Given the description of an element on the screen output the (x, y) to click on. 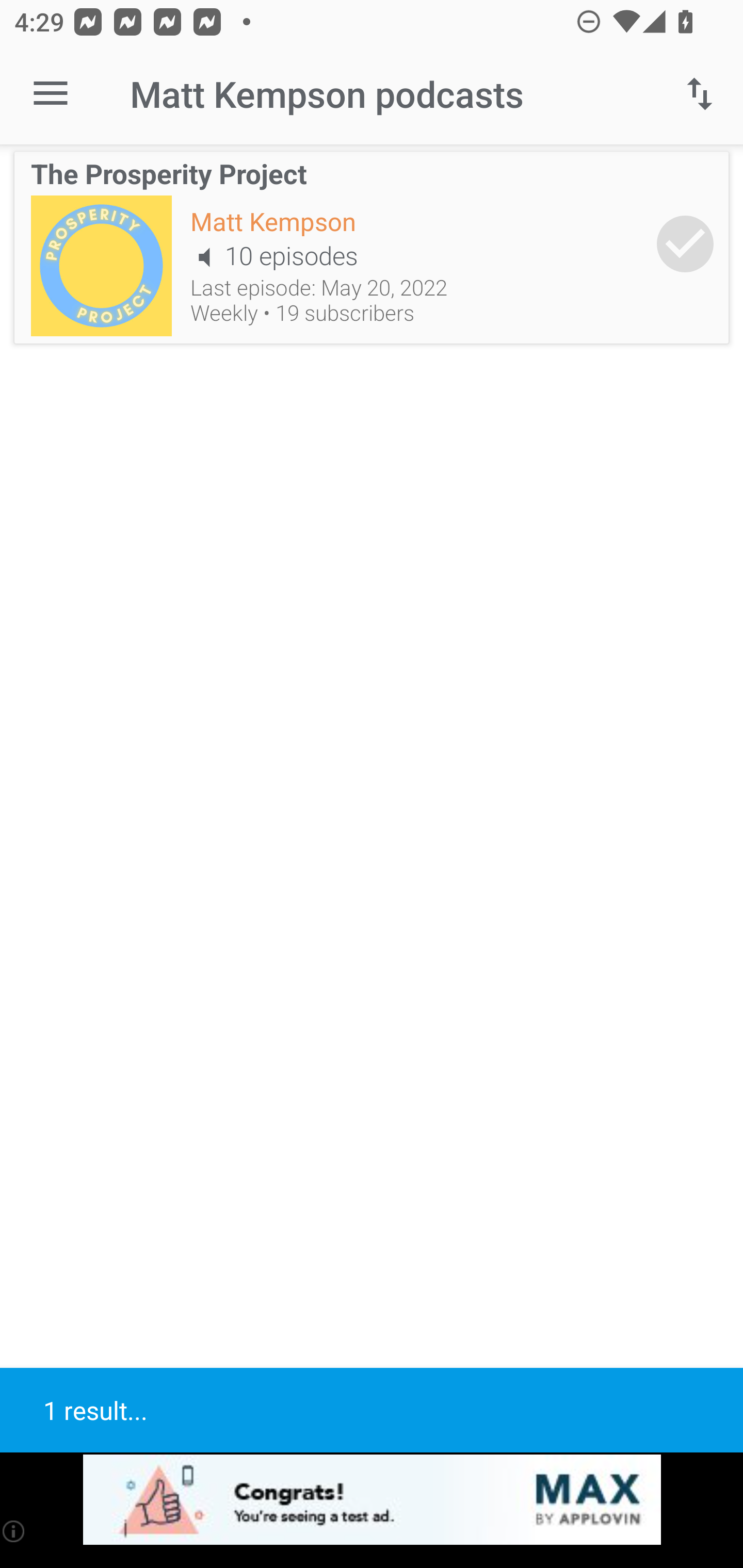
Open navigation sidebar (50, 93)
Sort (699, 93)
Add (684, 243)
app-monetization (371, 1500)
(i) (14, 1531)
